Given the description of an element on the screen output the (x, y) to click on. 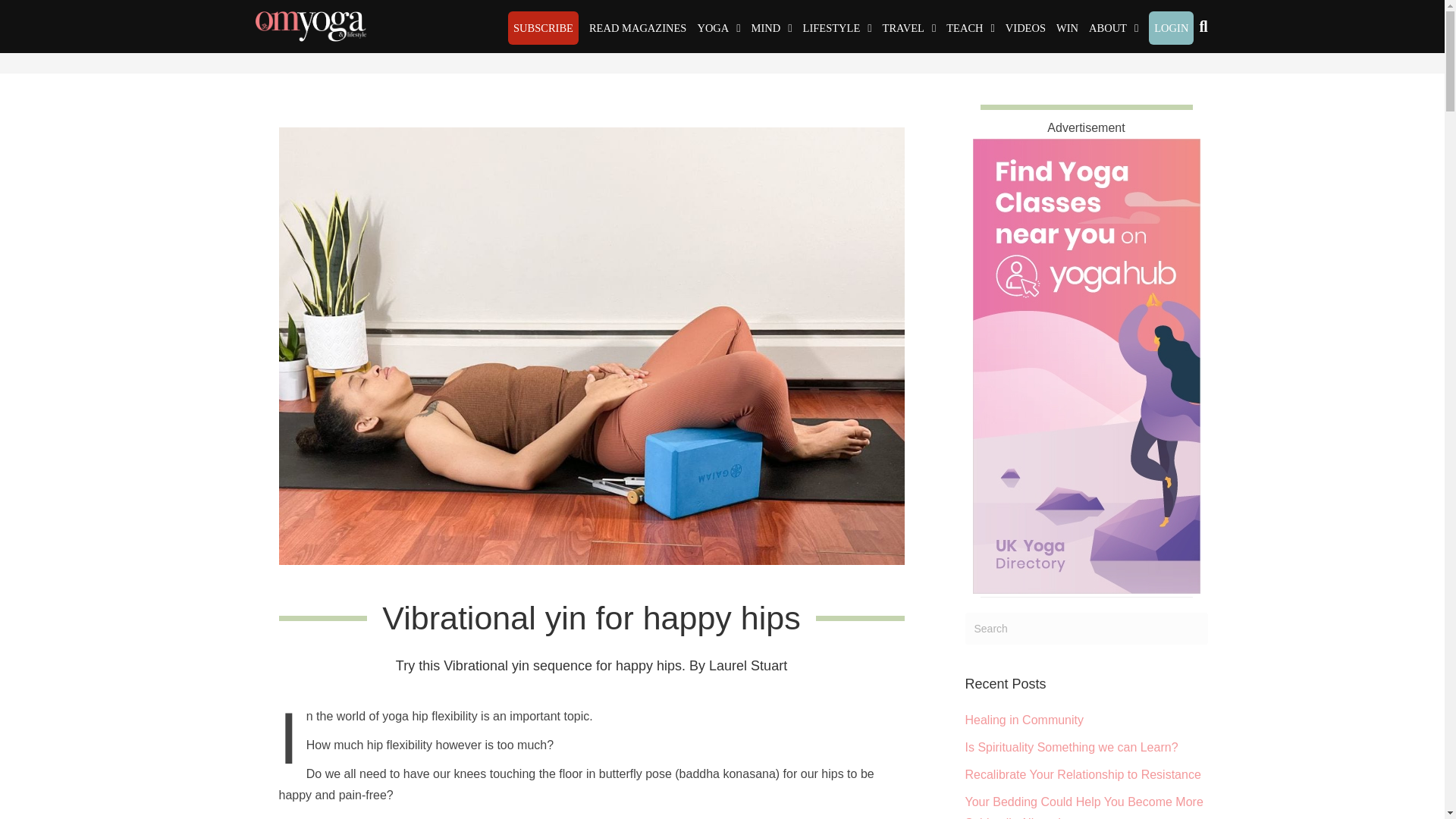
WIN (1067, 28)
TEACH (970, 28)
READ MAGAZINES (637, 28)
MIND (771, 28)
LOGIN (1170, 28)
SUBSCRIBE (543, 28)
TRAVEL (909, 28)
LIFESTYLE (837, 28)
YOGA (718, 28)
ABOUT (1112, 28)
